Given the description of an element on the screen output the (x, y) to click on. 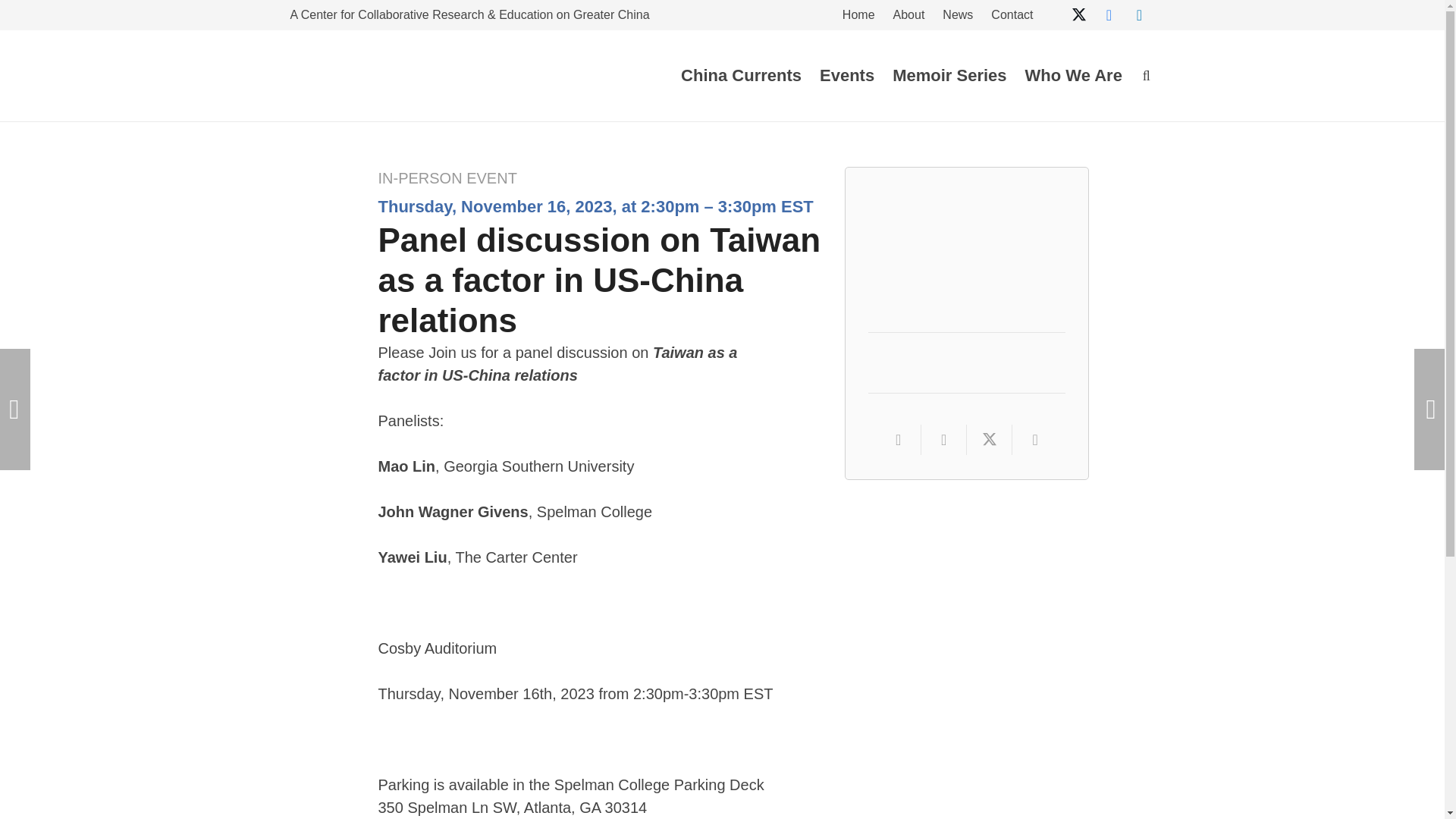
Email this (898, 440)
Home (857, 17)
Events (846, 75)
Facebook (1108, 15)
LinkedIn (1139, 15)
Contact (1011, 17)
Tweet this (988, 440)
About (908, 17)
Memoir Series (948, 75)
Twitter (1077, 15)
